Given the description of an element on the screen output the (x, y) to click on. 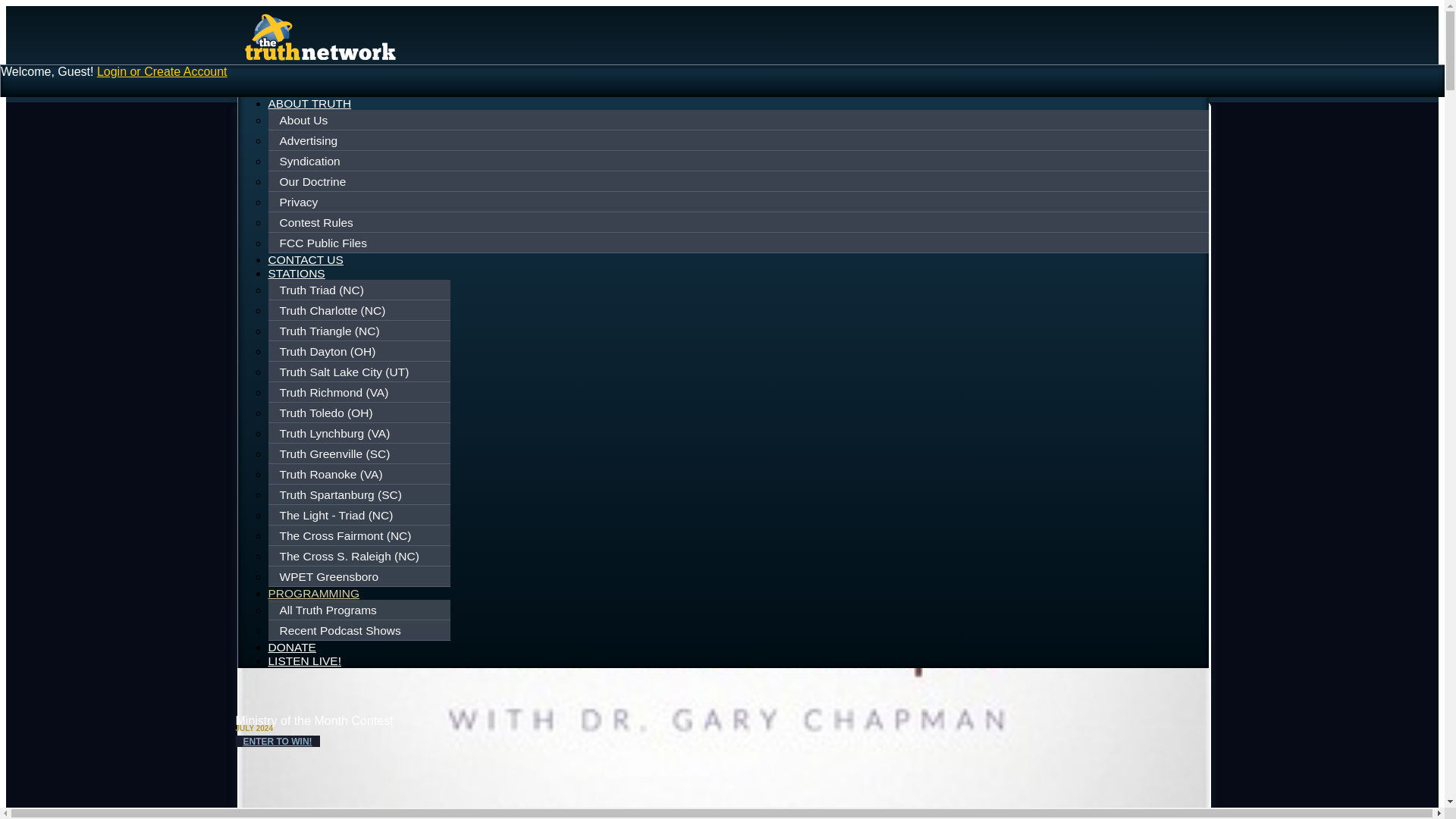
STATIONS (295, 273)
Contest Rules (739, 222)
PROGRAMMING (313, 594)
WPET Greensboro (360, 576)
Privacy (739, 202)
About Us (739, 120)
FCC Public Files (739, 243)
Our Doctrine (739, 181)
CONTACT US (305, 259)
ABOUT TRUTH (309, 103)
Advertising (739, 140)
HOME (285, 89)
Syndication (739, 161)
